Given the description of an element on the screen output the (x, y) to click on. 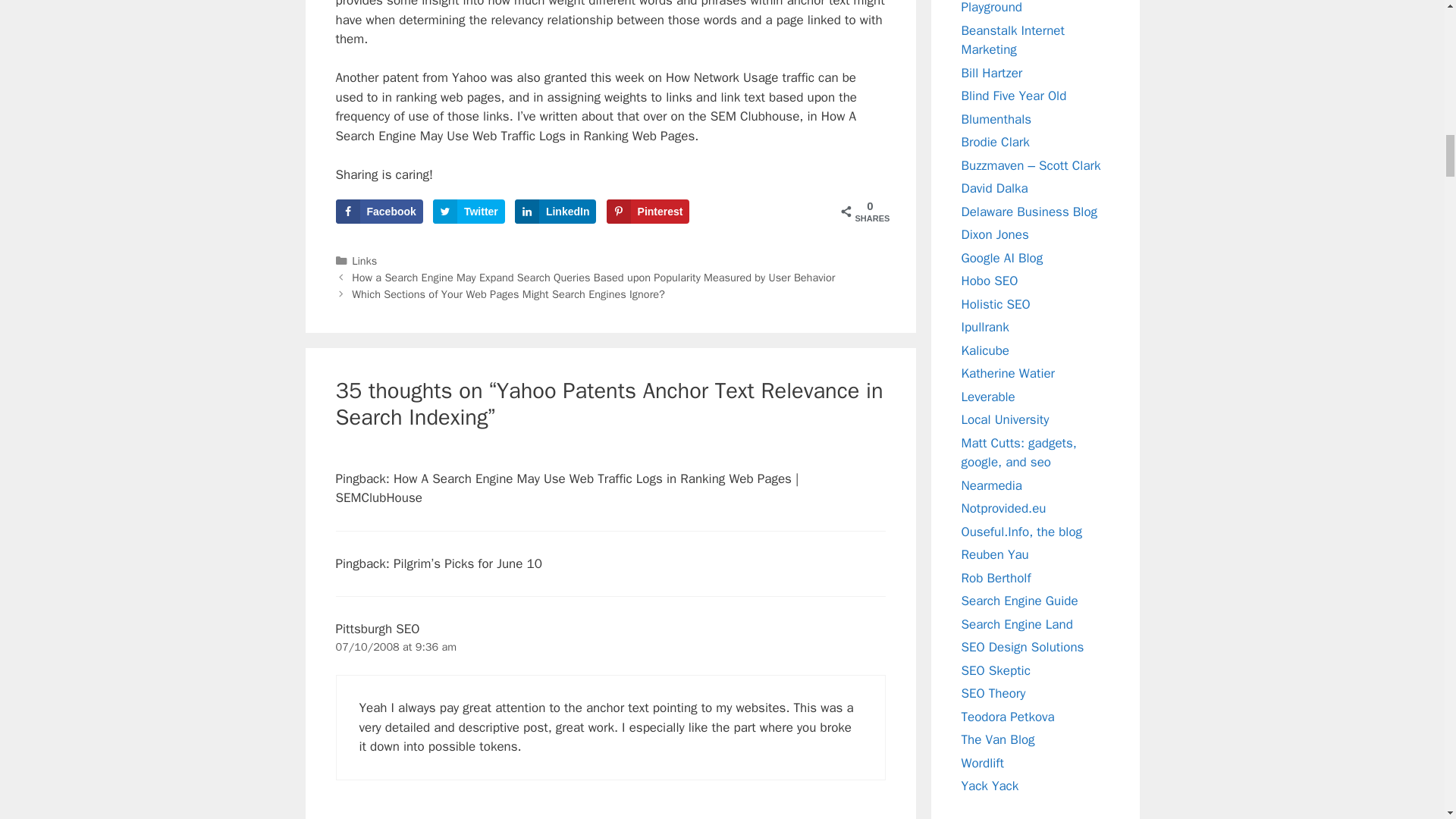
Pinterest (648, 211)
Save to Pinterest (648, 211)
Koray Gubur (995, 304)
Share on Facebook (378, 211)
Facebook (378, 211)
Twitter (468, 211)
Share on LinkedIn (555, 211)
Links (364, 260)
Share on Twitter (468, 211)
LinkedIn (555, 211)
Jason Barnard (984, 350)
